Given the description of an element on the screen output the (x, y) to click on. 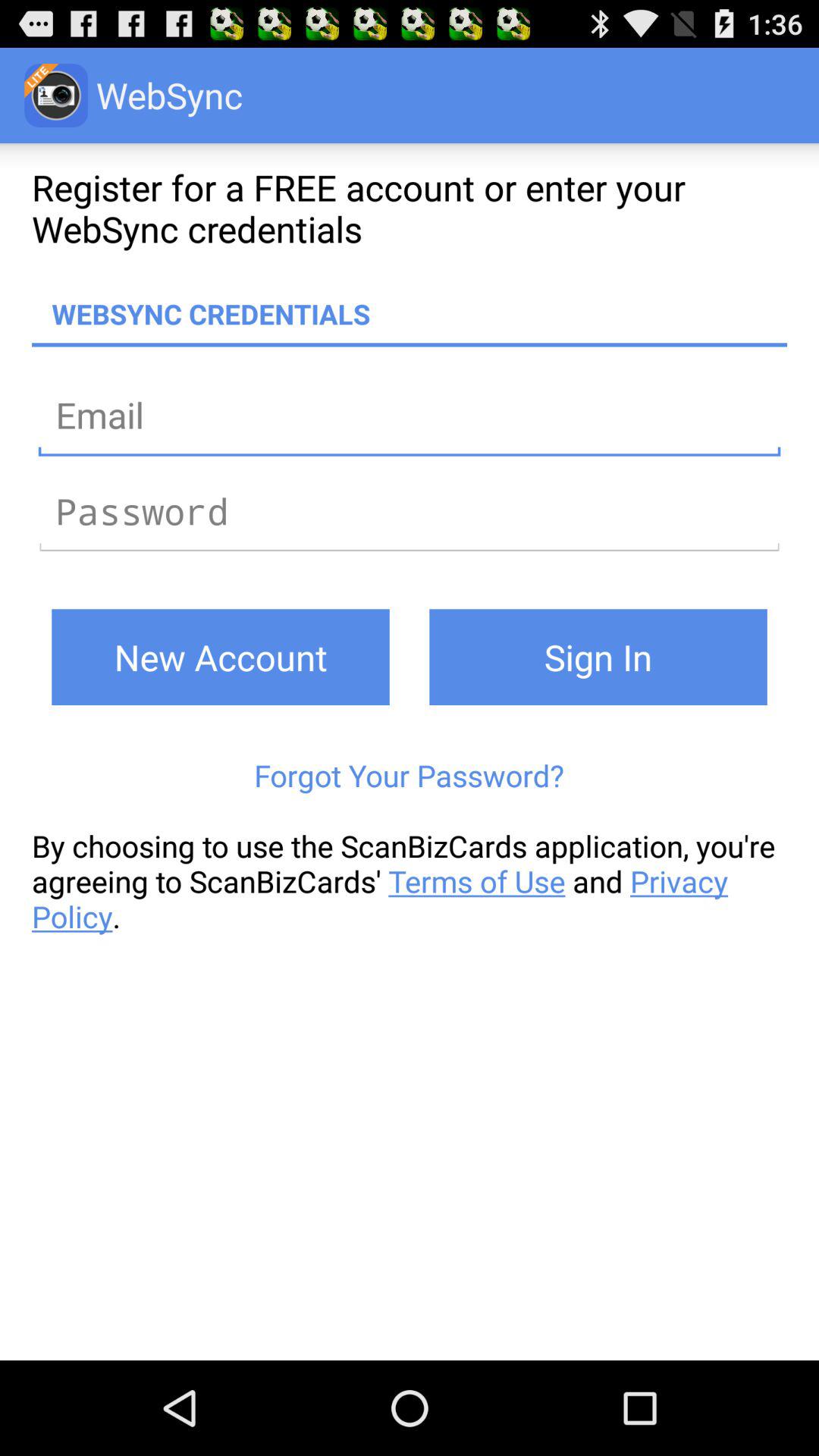
launch the item to the left of the sign in icon (220, 657)
